Given the description of an element on the screen output the (x, y) to click on. 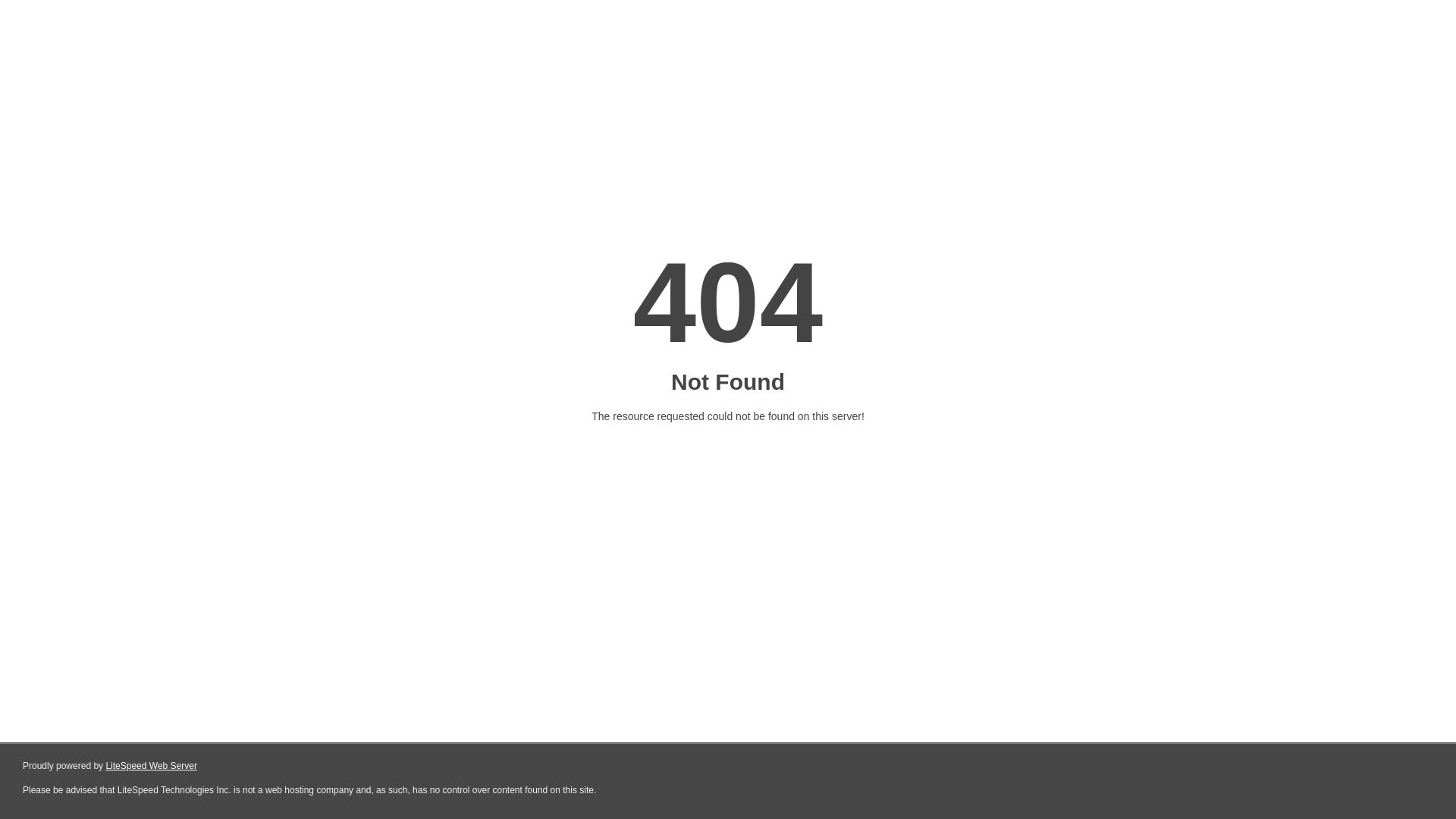
LiteSpeed Web Server Element type: text (151, 765)
